Given the description of an element on the screen output the (x, y) to click on. 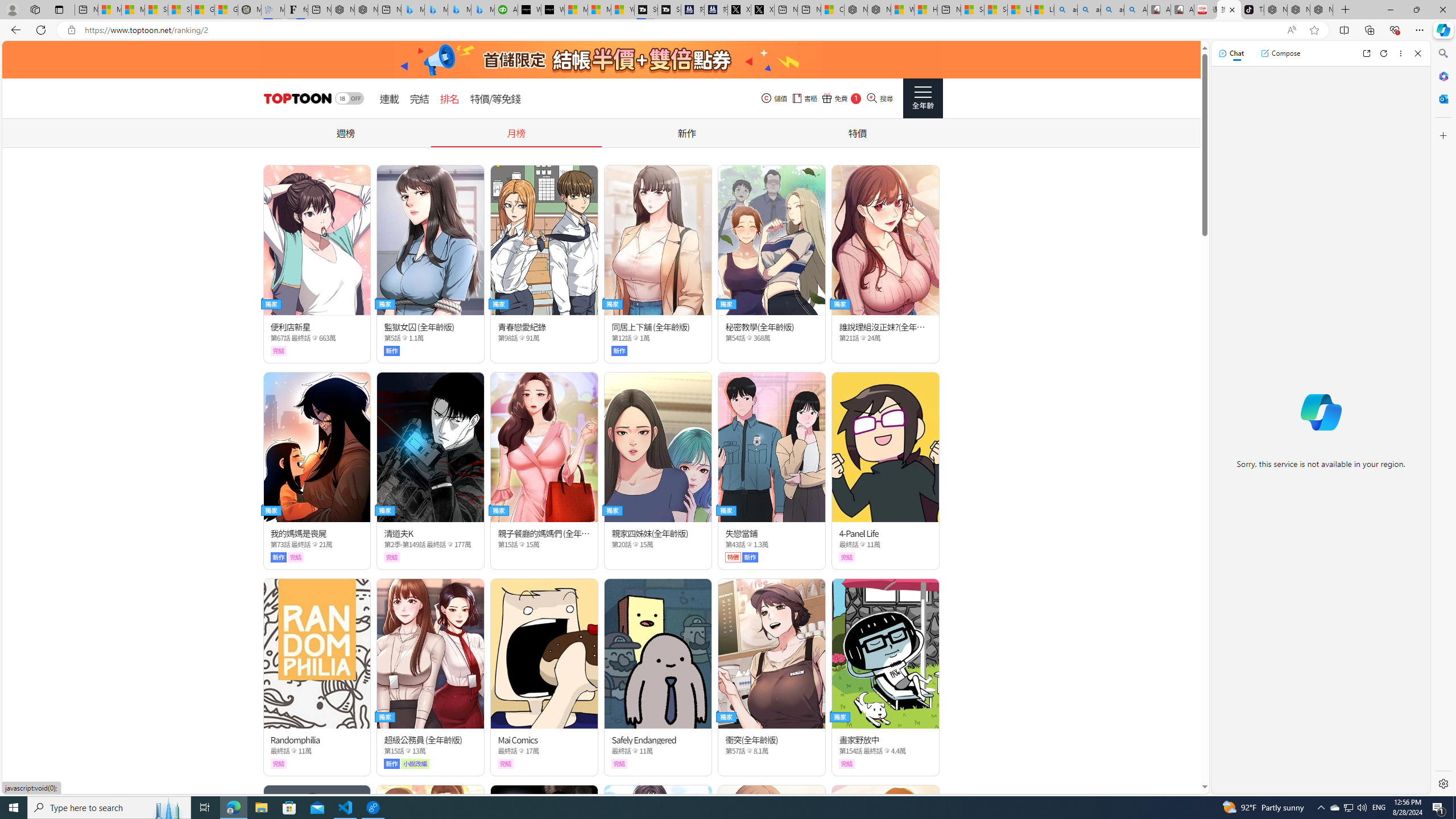
Class: side_menu_btn actionRightMenuBtn (922, 97)
header (295, 97)
Microsoft Bing Travel - Shangri-La Hotel Bangkok (482, 9)
Manatee Mortality Statistics | FWC (249, 9)
